Given the description of an element on the screen output the (x, y) to click on. 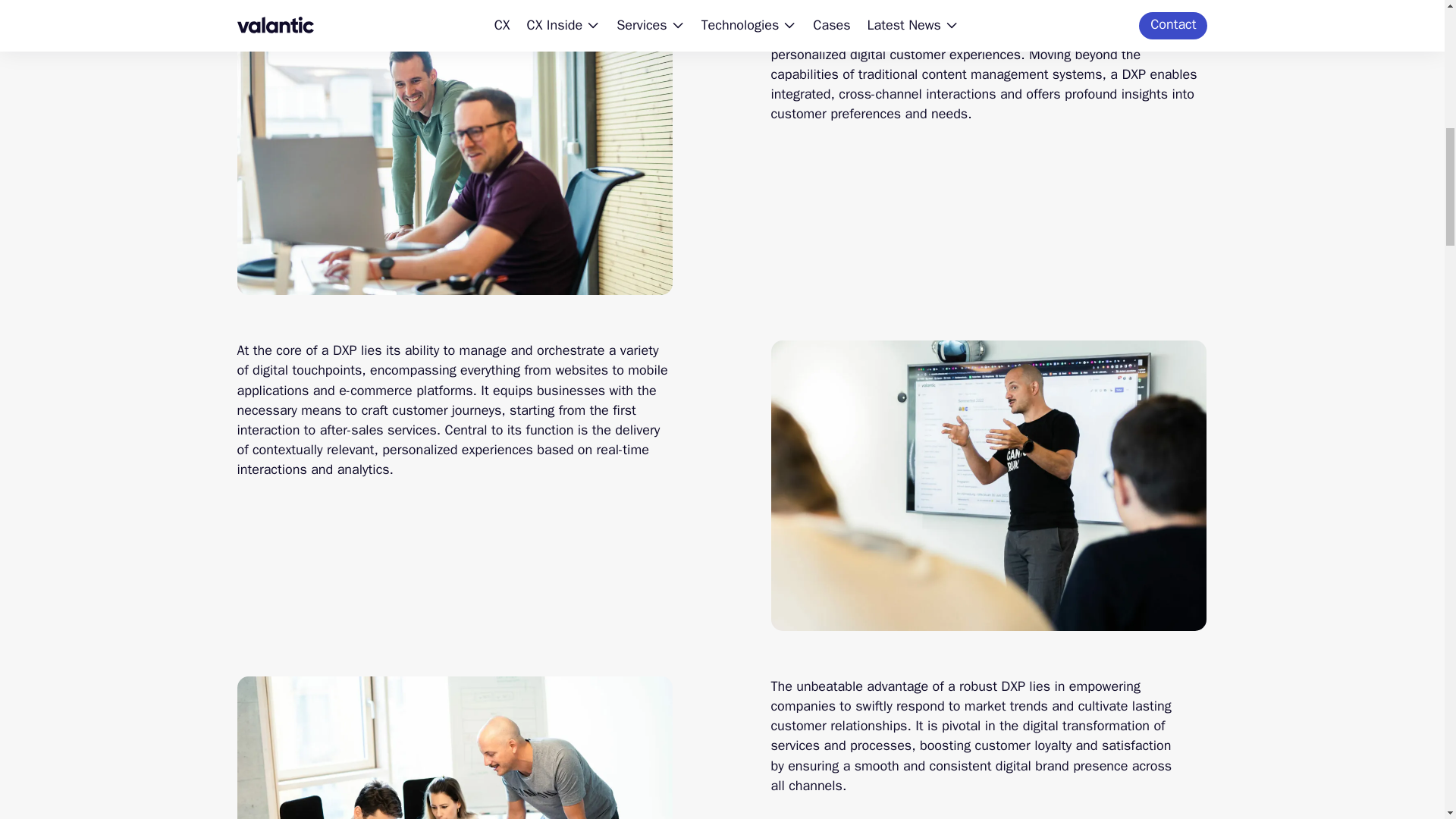
Valantic-CX-St-Gallen-17 (987, 485)
